Given the description of an element on the screen output the (x, y) to click on. 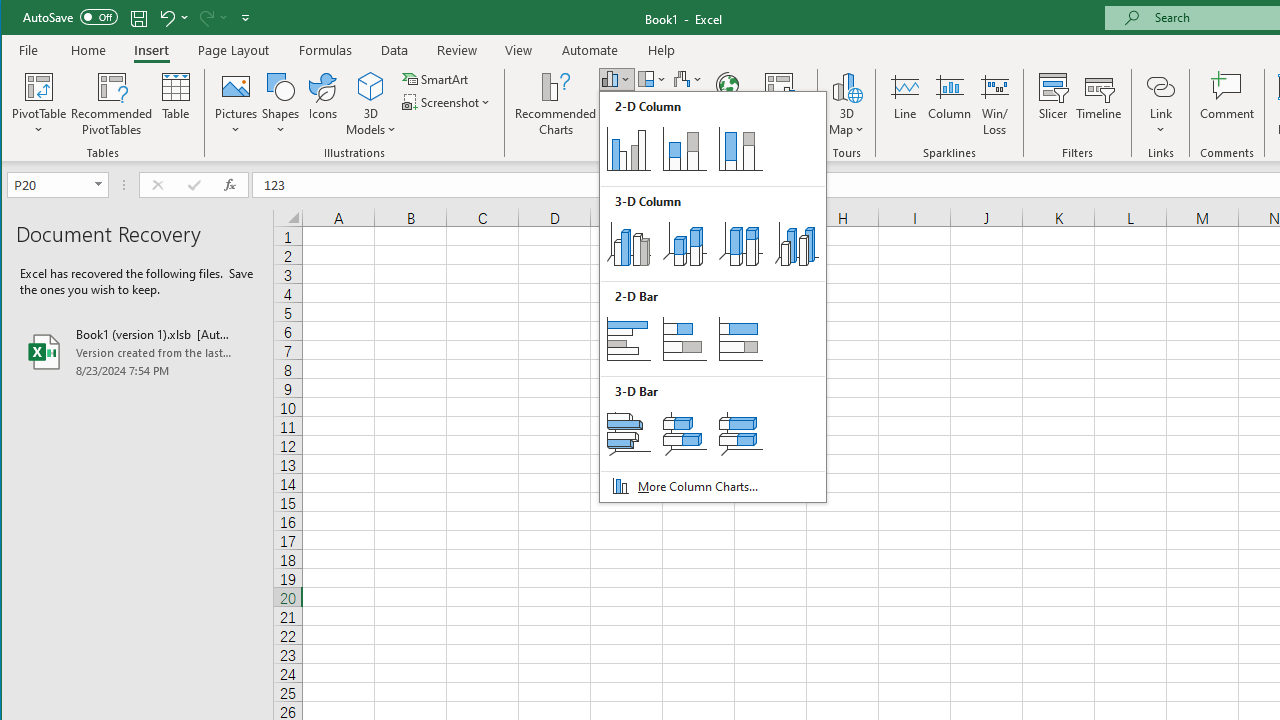
Redo (205, 17)
Insert Hierarchy Chart (652, 78)
Icons (323, 104)
Insert Waterfall, Funnel, Stock, Surface, or Radar Chart (688, 78)
Recommended Charts (556, 104)
PivotTable (39, 86)
Formulas (326, 50)
Line (904, 104)
Page Layout (233, 50)
AutoSave (70, 16)
Recommended PivotTables (111, 104)
Table (175, 104)
Undo (166, 17)
Save (139, 17)
Review (456, 50)
